Given the description of an element on the screen output the (x, y) to click on. 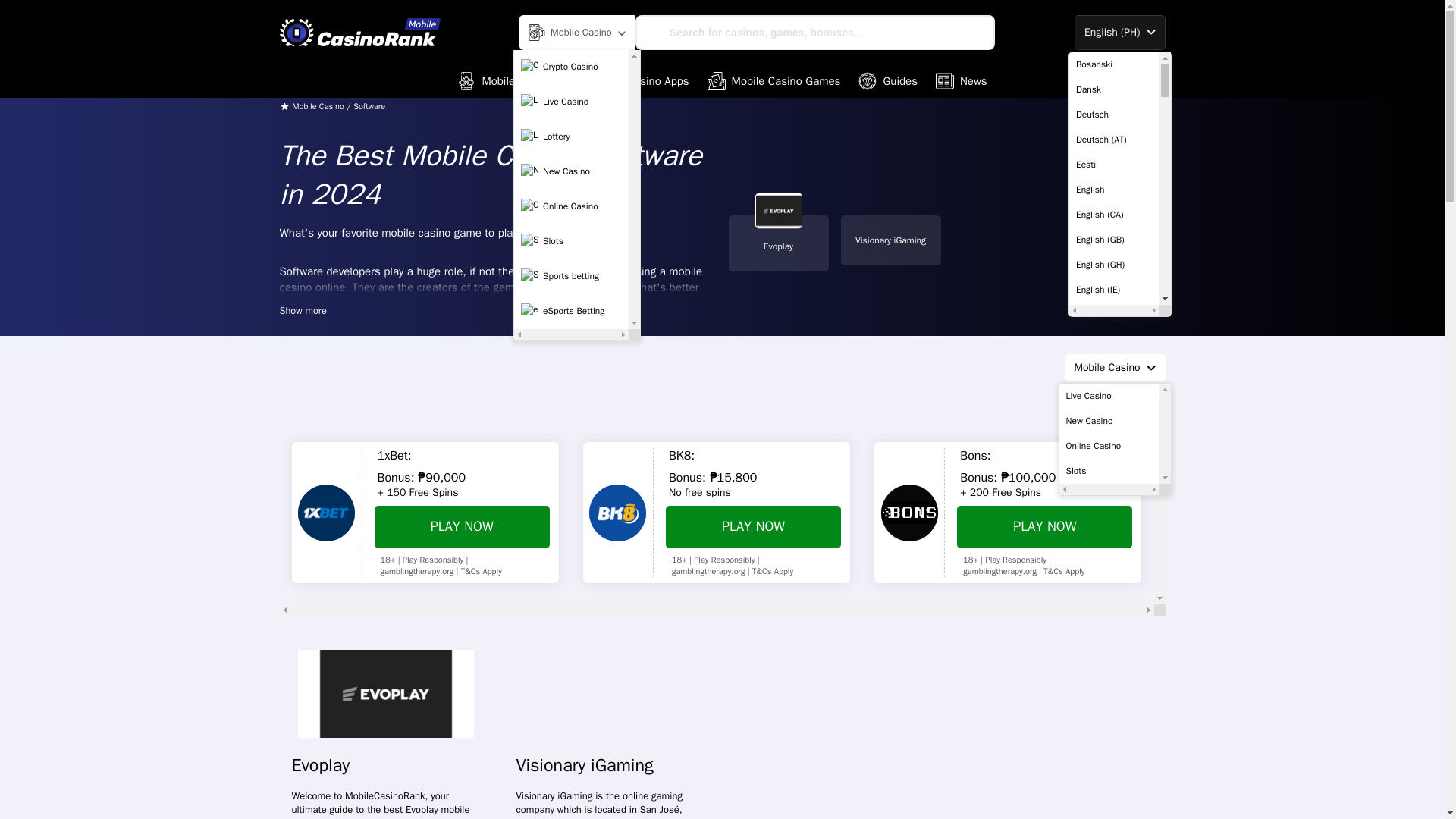
Eesti (1113, 163)
Slots (571, 241)
Bosanski (1113, 63)
Online Casino (571, 206)
New Casino (571, 172)
Sports betting (571, 276)
Crypto Casino (571, 67)
Deutsch (1113, 113)
Dansk (1113, 89)
Lottery (571, 136)
